Given the description of an element on the screen output the (x, y) to click on. 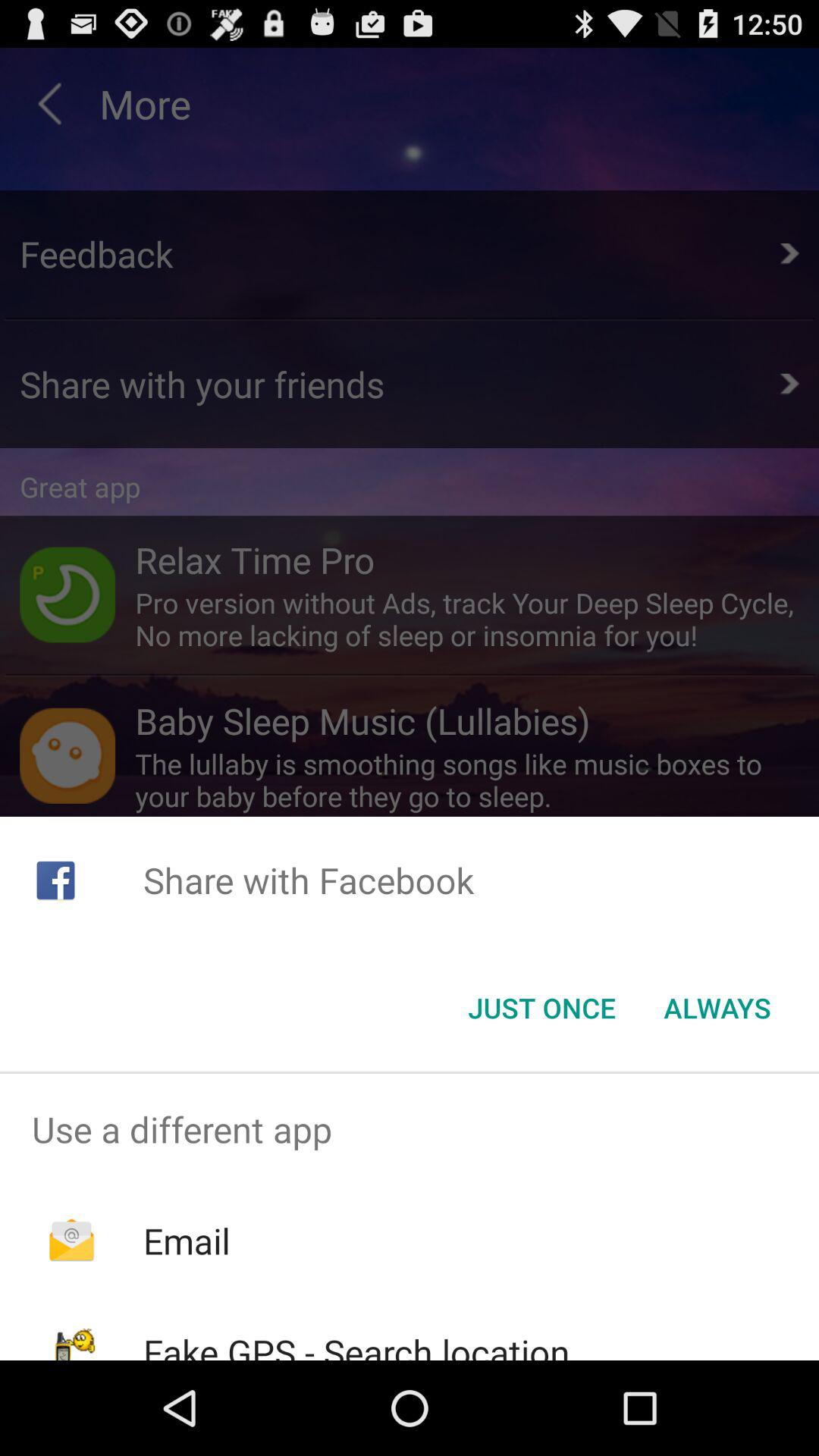
press the item at the bottom right corner (717, 1007)
